Given the description of an element on the screen output the (x, y) to click on. 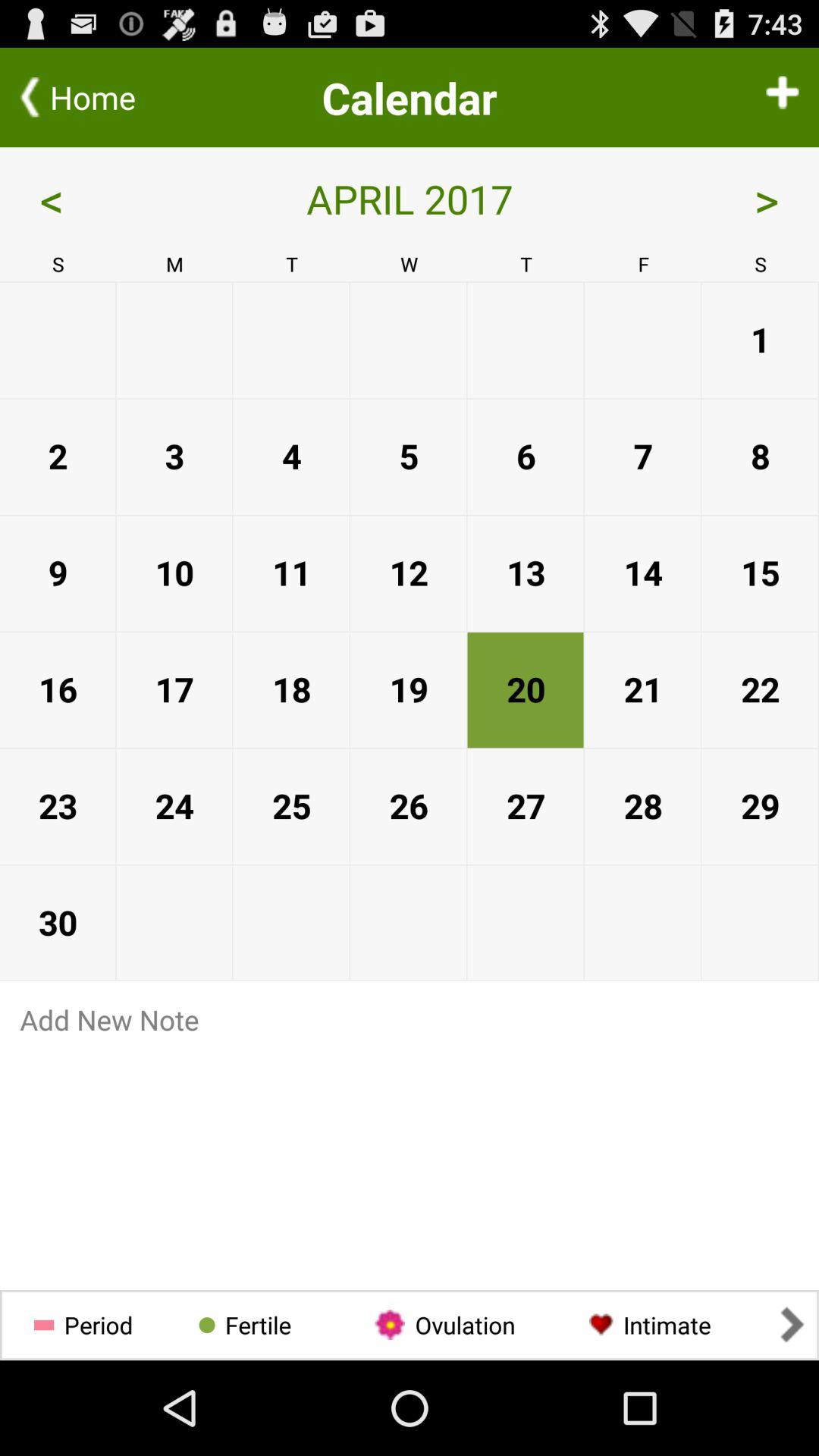
add note (409, 1157)
